Given the description of an element on the screen output the (x, y) to click on. 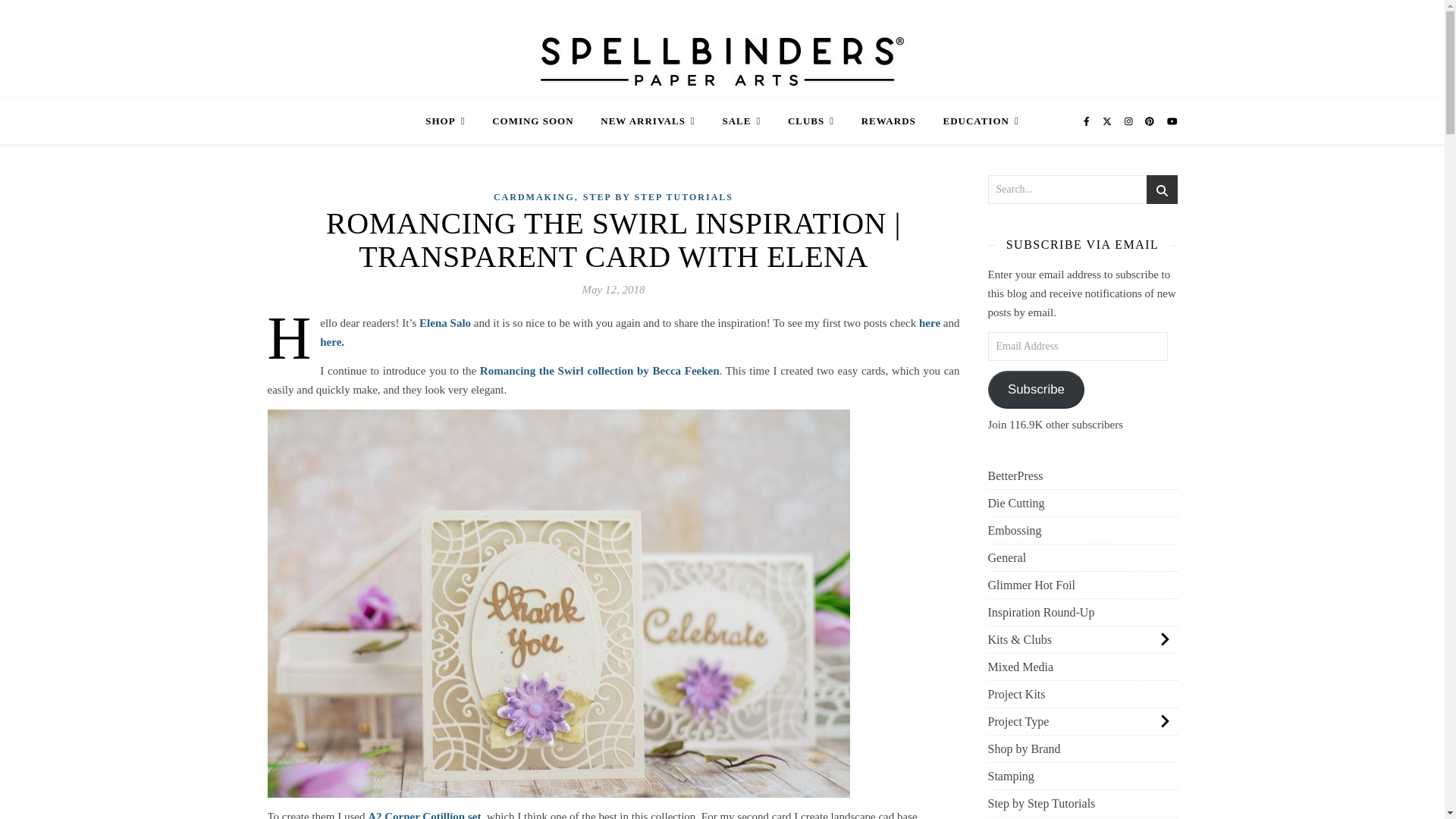
SHOP (451, 121)
Spellbinders Blog (721, 59)
